Given the description of an element on the screen output the (x, y) to click on. 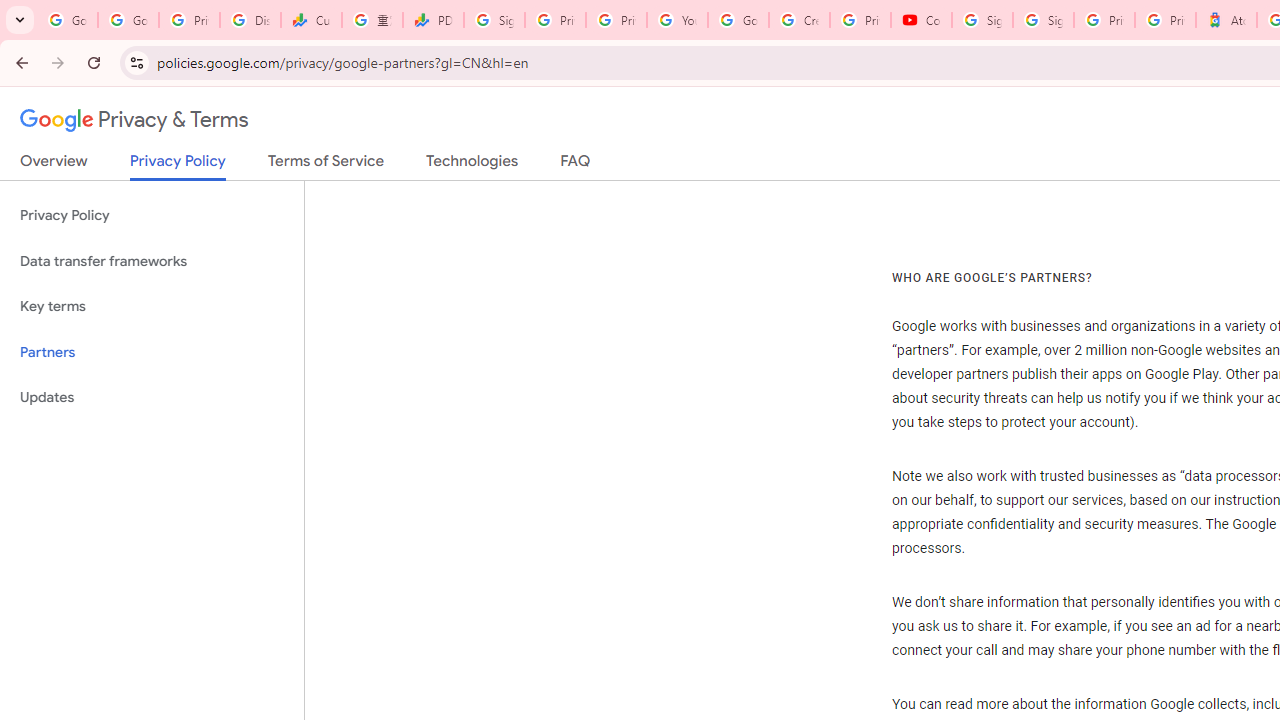
Updates (152, 398)
Key terms (152, 306)
Privacy Policy (152, 215)
